Given the description of an element on the screen output the (x, y) to click on. 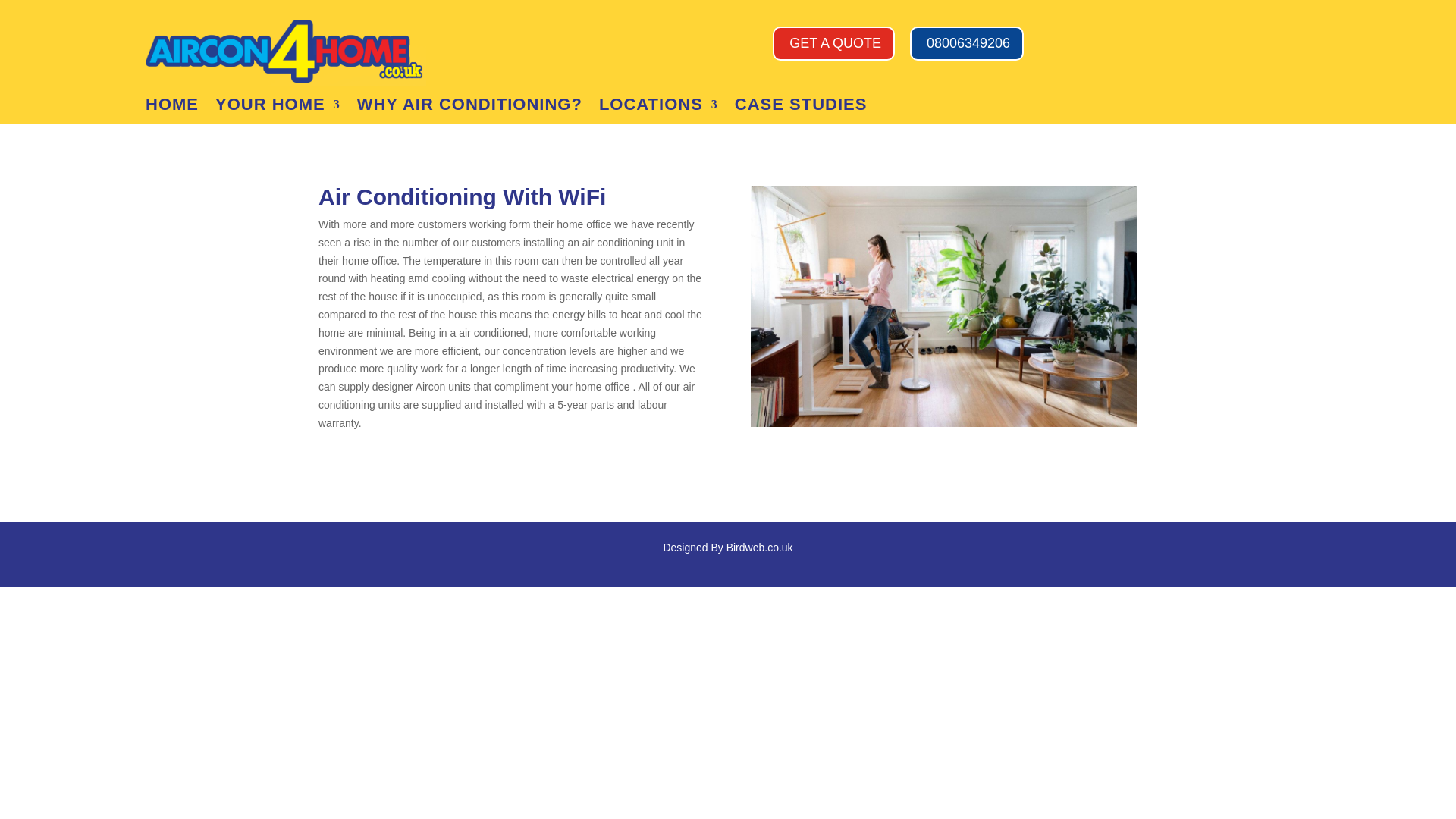
08006349206 (966, 43)
CASE STUDIES (801, 107)
LOCATIONS (657, 107)
HOME (171, 107)
logo (285, 47)
Home Office Air Conditioning Installations (944, 305)
GET A QUOTE (834, 43)
WHY AIR CONDITIONING? (469, 107)
YOUR HOME (277, 107)
